Given the description of an element on the screen output the (x, y) to click on. 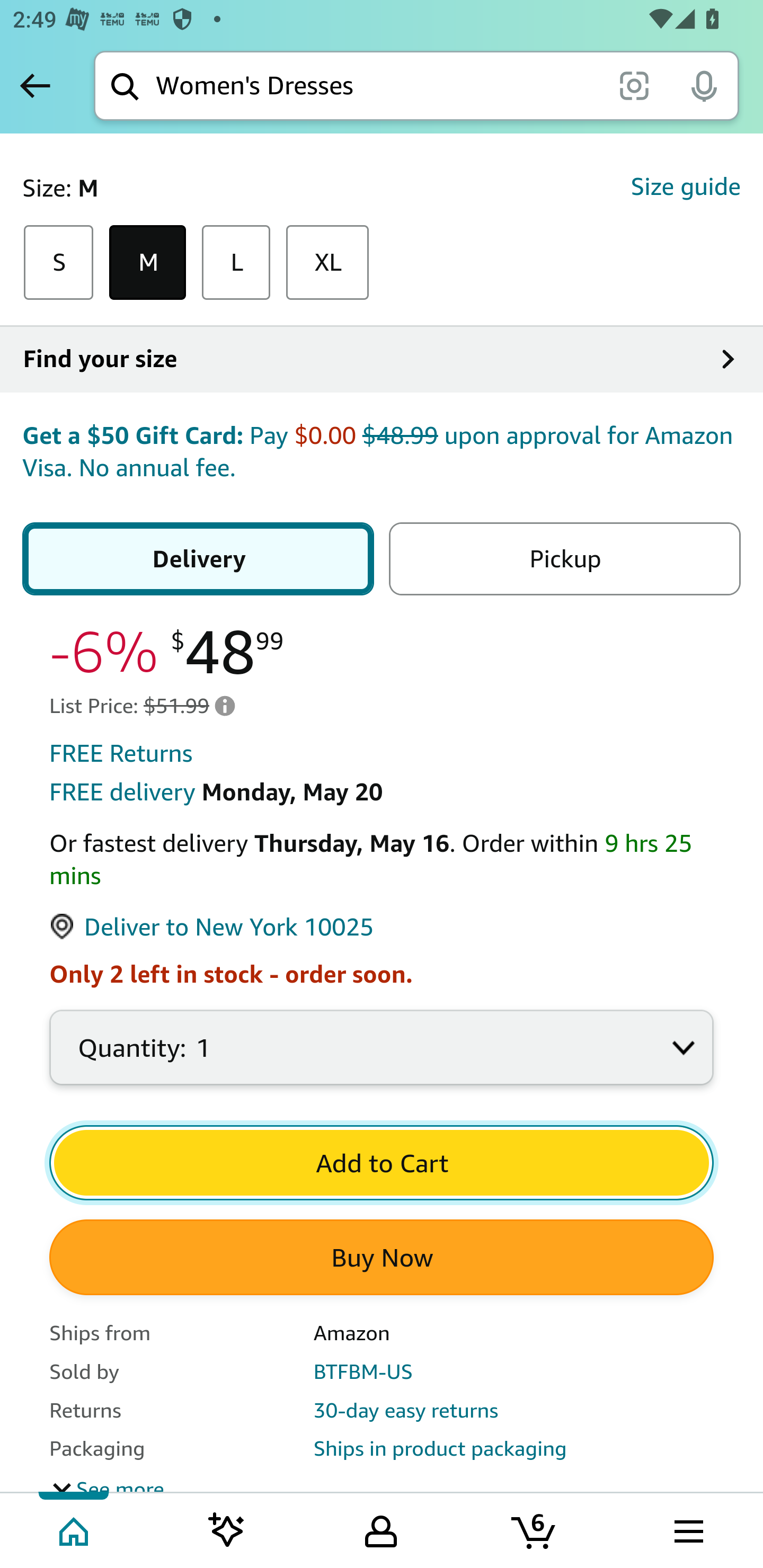
Back (35, 85)
scan it (633, 85)
Size guide (684, 187)
S (58, 263)
M (147, 263)
L (236, 263)
XL (327, 263)
Find your size (381, 360)
Delivery (201, 559)
Pickup (560, 559)
Learn more about Amazon pricing and savings (225, 706)
FREE Returns (121, 755)
FREE delivery (122, 794)
Deliver to New York 10025‌ (212, 929)
1 (381, 1059)
Add to Cart (381, 1164)
Buy Now (381, 1258)
BTFBM-US (362, 1372)
Home Tab 1 of 5 (75, 1529)
Inspire feed Tab 2 of 5 (227, 1529)
Your Amazon.com Tab 3 of 5 (380, 1529)
Cart 6 items Tab 4 of 5 6 (534, 1529)
Browse menu Tab 5 of 5 (687, 1529)
